Given the description of an element on the screen output the (x, y) to click on. 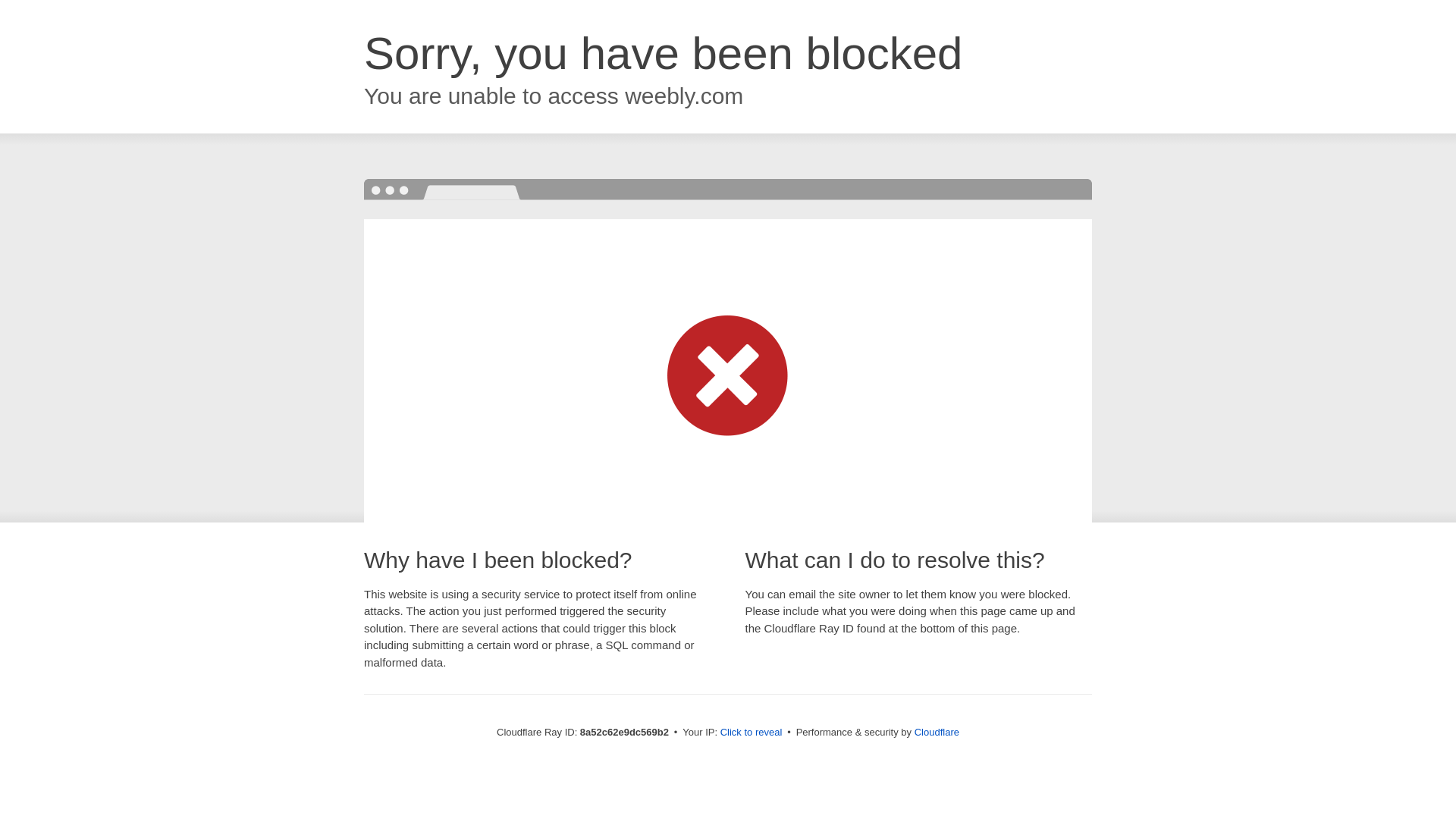
Cloudflare (936, 731)
Click to reveal (751, 732)
